Given the description of an element on the screen output the (x, y) to click on. 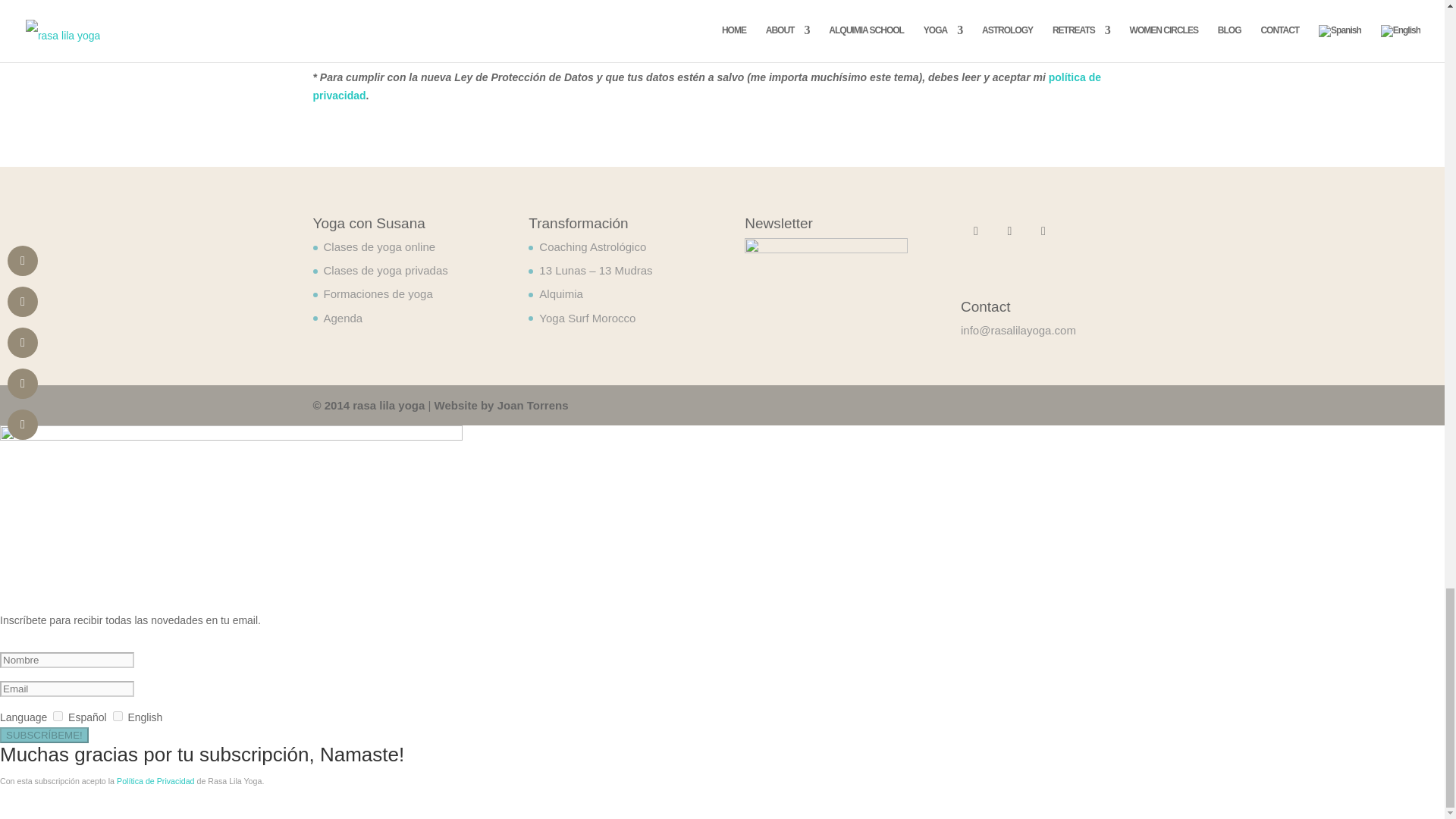
Submit (1091, 2)
Formaciones de yoga (377, 293)
Alquimia (560, 293)
Clases de yoga privadas (384, 269)
English (117, 716)
Clases de yoga online (379, 246)
Agenda (342, 318)
Yoga Surf Morocco (586, 318)
